Given the description of an element on the screen output the (x, y) to click on. 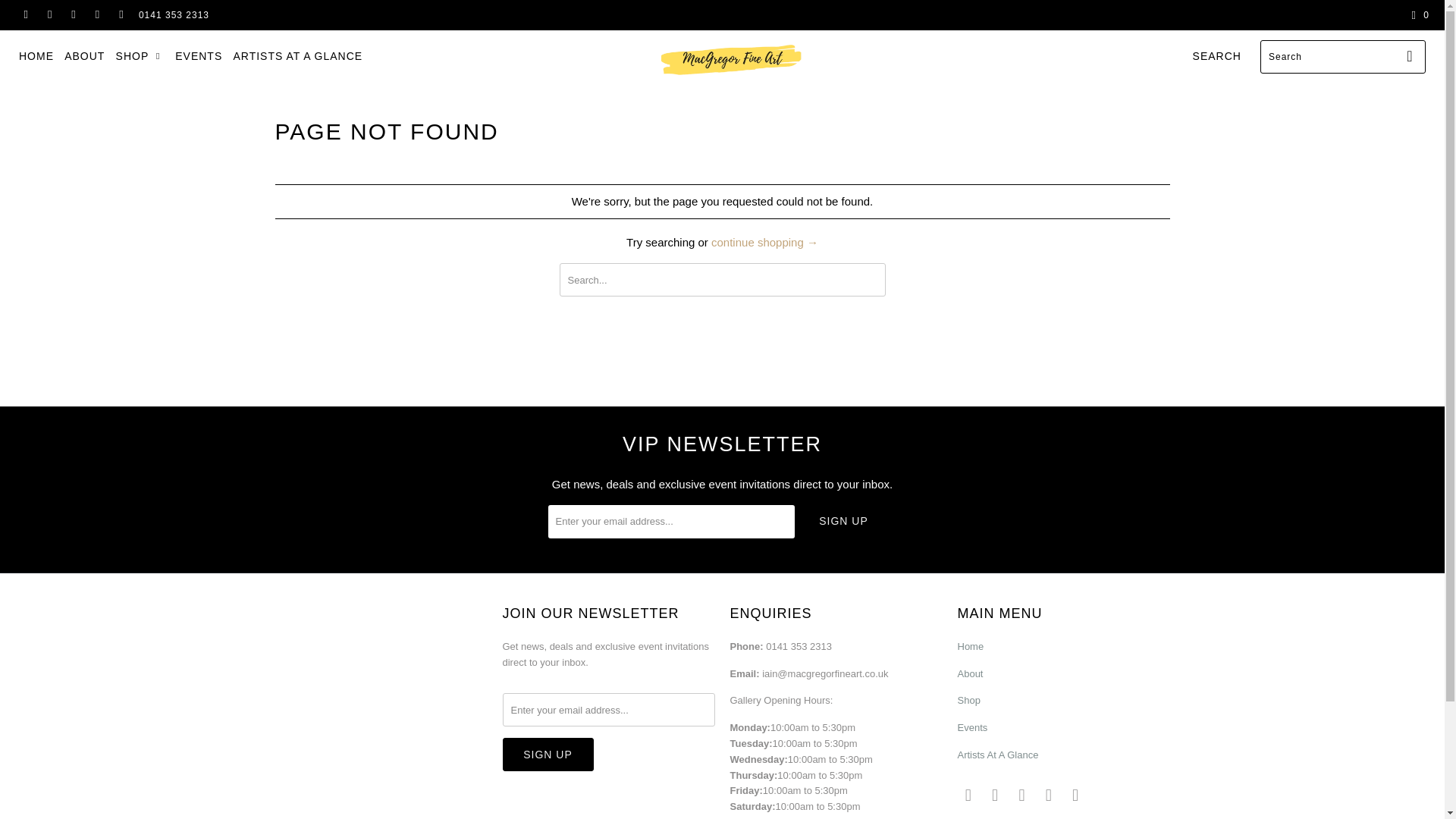
MacGregor Fine Art on Instagram (1047, 795)
MacGregor Fine Art on Pinterest (73, 14)
MacGregor Fine Art on Facebook (48, 14)
MacGregor Fine Art on Pinterest (1021, 795)
Sign Up (842, 521)
SEARCH (1216, 56)
Email MacGregor Fine Art (1075, 795)
MacGregor Fine Art on Twitter (25, 14)
Email MacGregor Fine Art (121, 14)
MacGregor Fine Art (729, 59)
